Given the description of an element on the screen output the (x, y) to click on. 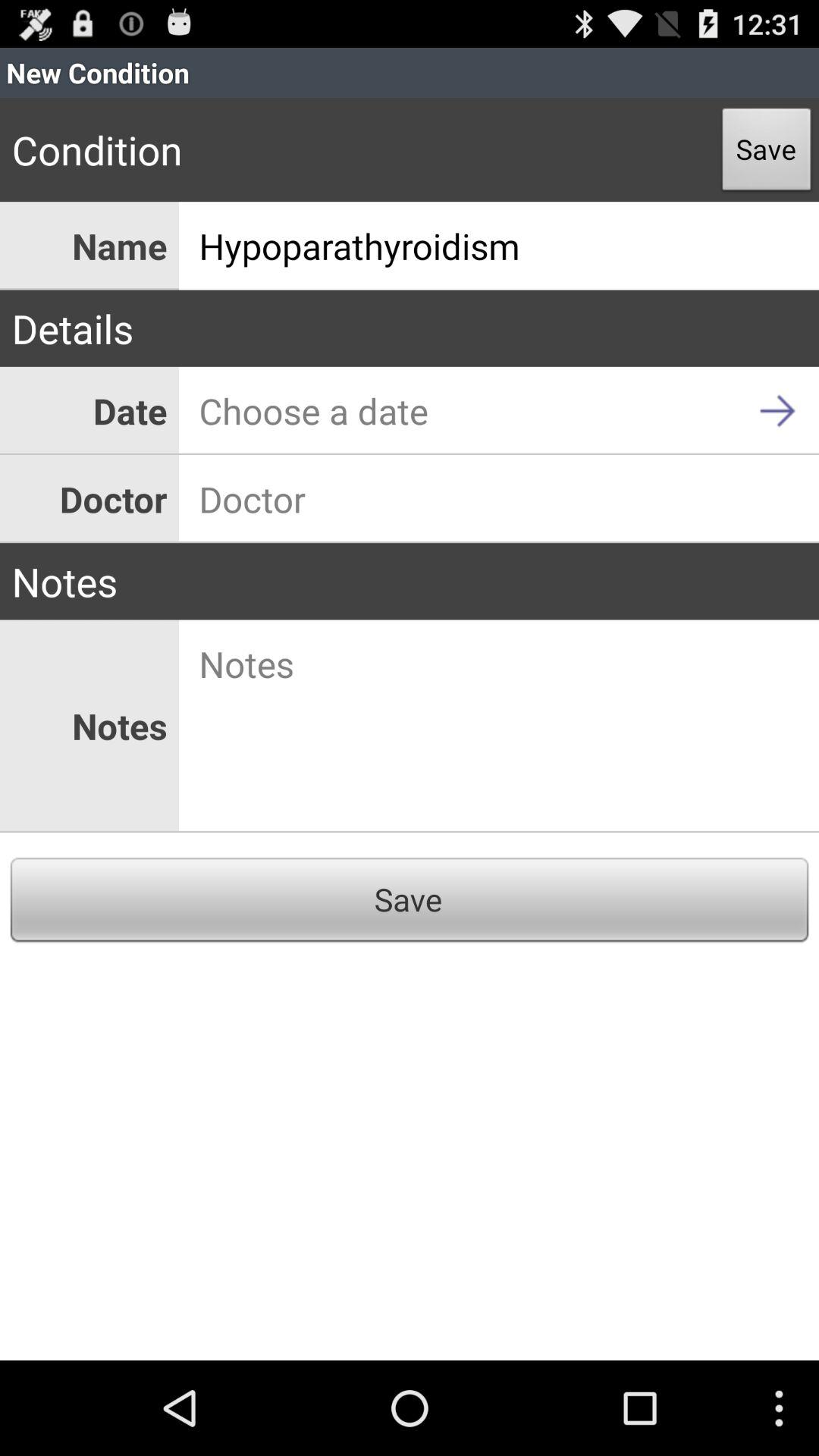
notation box (499, 725)
